Given the description of an element on the screen output the (x, y) to click on. 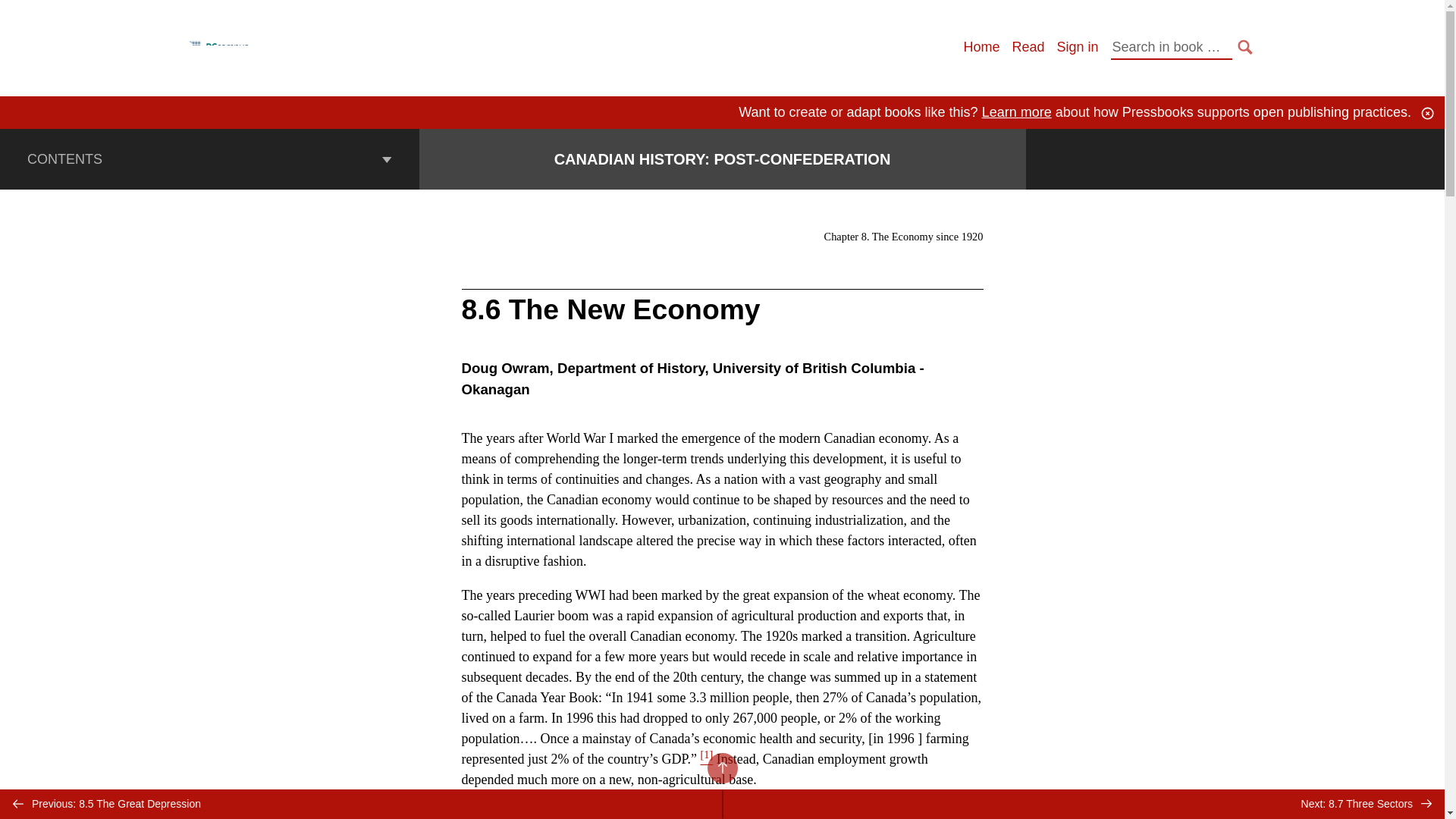
CANADIAN HISTORY: POST-CONFEDERATION (722, 159)
Read (1027, 46)
Learn more (1016, 111)
CONTENTS (209, 158)
BACK TO TOP (721, 767)
Previous: 8.5 The Great Depression (361, 804)
Home (980, 46)
Previous: 8.5 The Great Depression (361, 804)
Sign in (1077, 46)
